Given the description of an element on the screen output the (x, y) to click on. 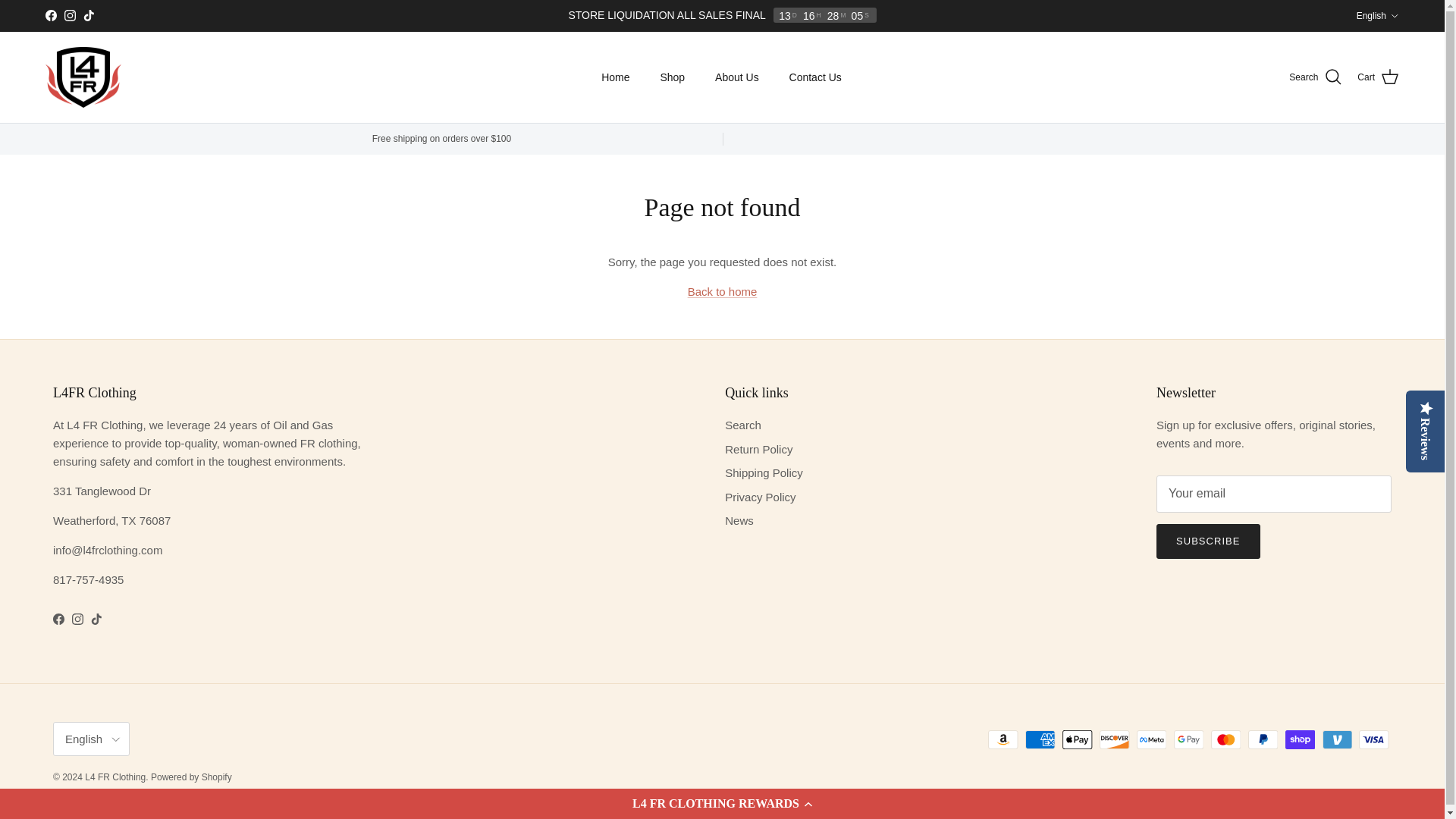
Facebook (50, 15)
Discover (1114, 739)
Shop Pay (1299, 739)
American Express (1040, 739)
L4 FR Clothing (82, 77)
L4 FR Clothing on TikTok (88, 15)
Meta Pay (1151, 739)
About Us (737, 77)
Google Pay (1188, 739)
Home (615, 77)
L4 FR Clothing on Instagram (76, 618)
English (1377, 15)
Shop (672, 77)
PayPal (1262, 739)
Contact Us (816, 77)
